Given the description of an element on the screen output the (x, y) to click on. 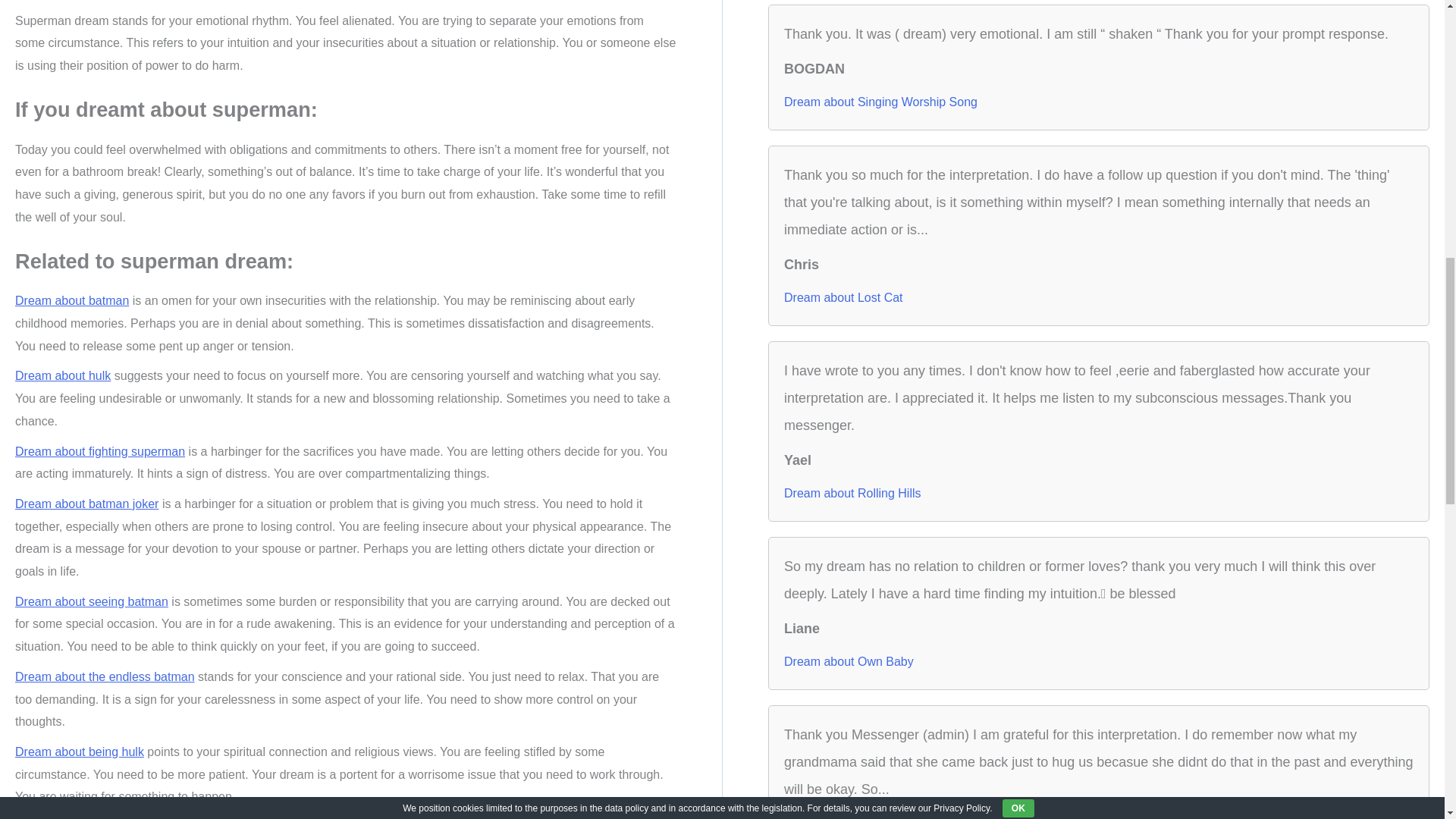
Dream about Singing Worship Song (880, 102)
Dream about fighting superman (99, 451)
Dream about batman joker (86, 503)
Dream about the endless batman (104, 676)
Dream about Rolling Hills (852, 493)
Dream about Lost Cat (843, 297)
Dream about seeing batman (91, 601)
Dream about batman (71, 300)
Dream about hulk (62, 375)
